Given the description of an element on the screen output the (x, y) to click on. 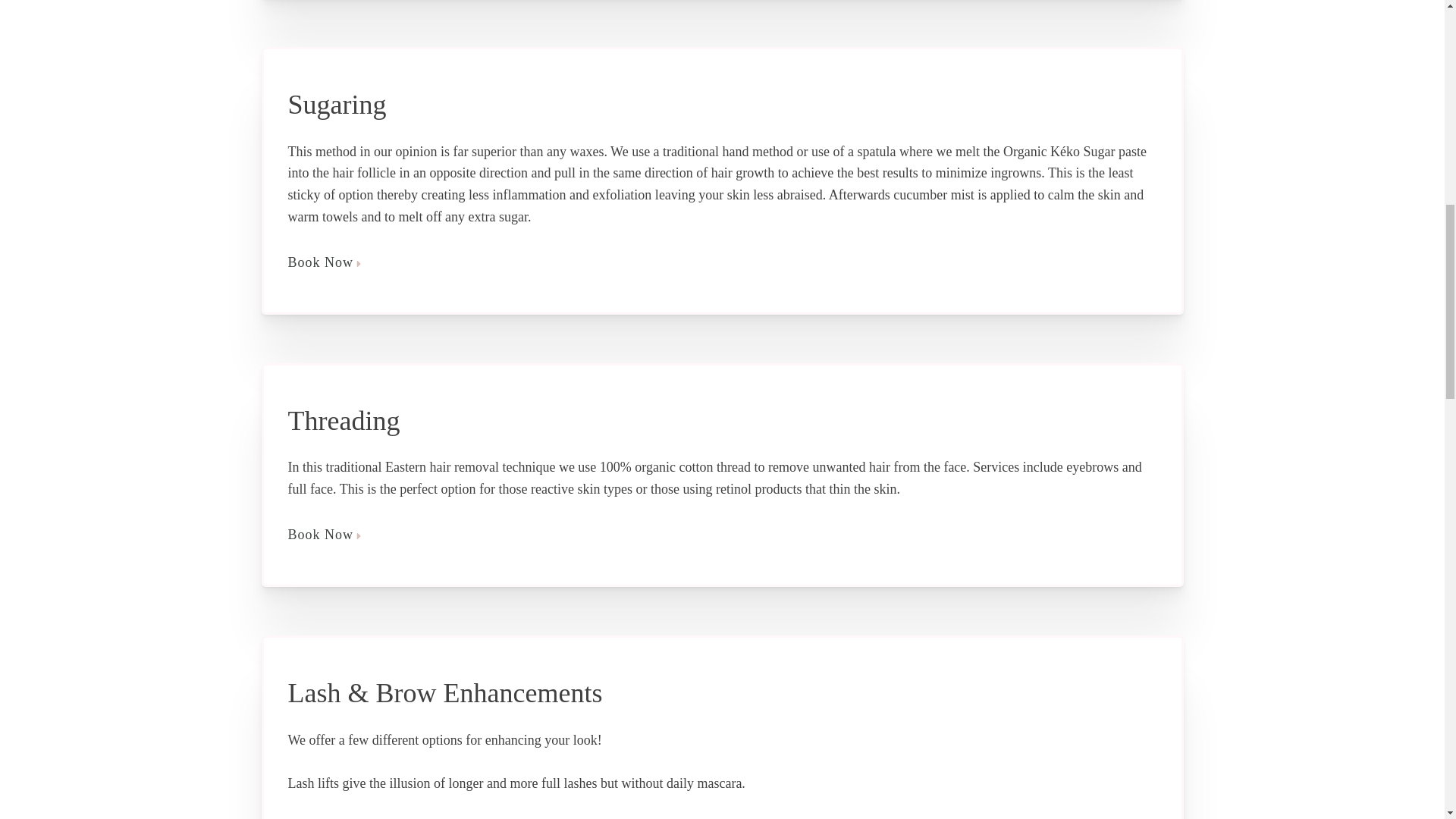
Book Now (722, 535)
Book Now (722, 262)
